Given the description of an element on the screen output the (x, y) to click on. 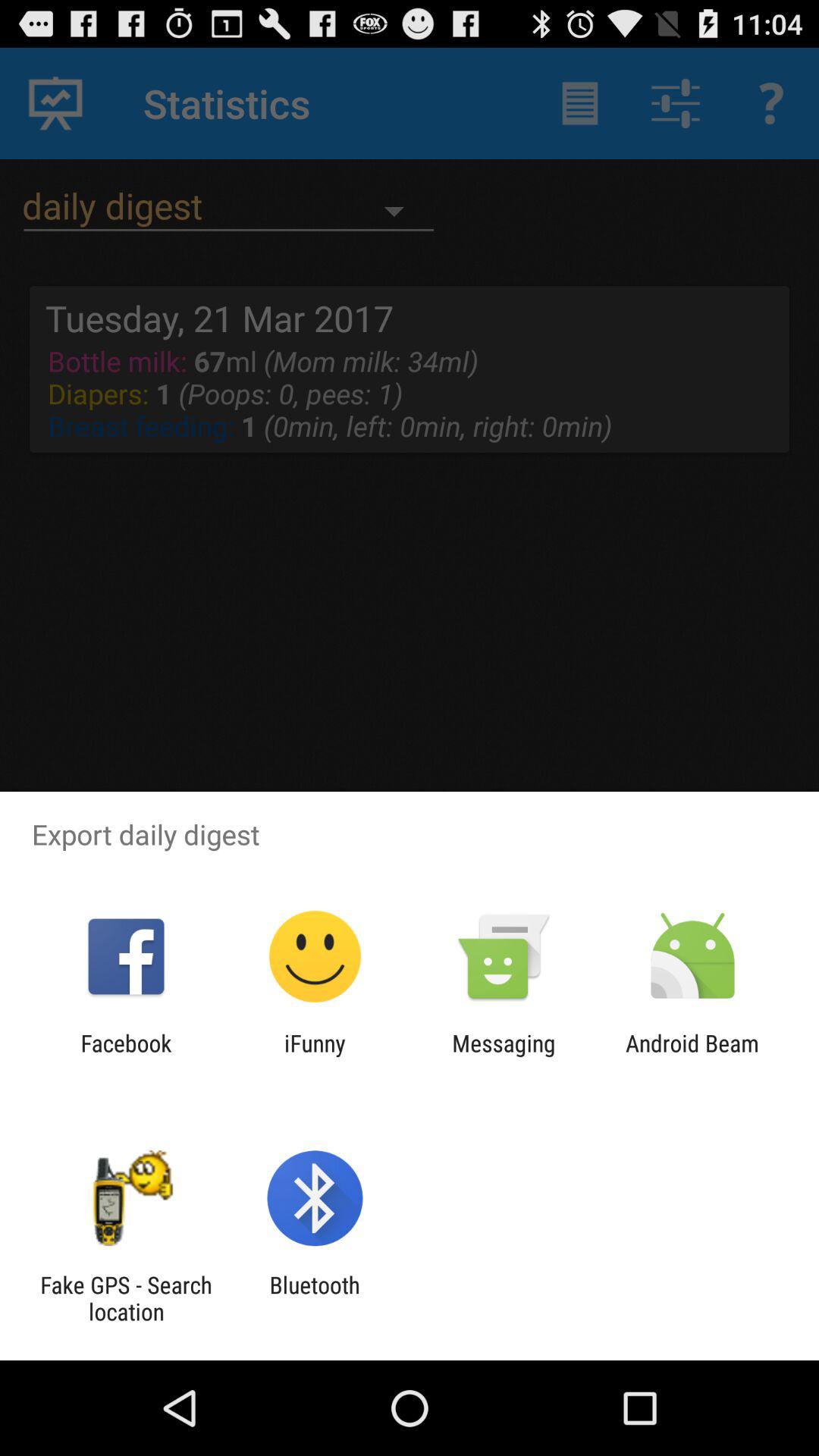
open facebook icon (125, 1056)
